Given the description of an element on the screen output the (x, y) to click on. 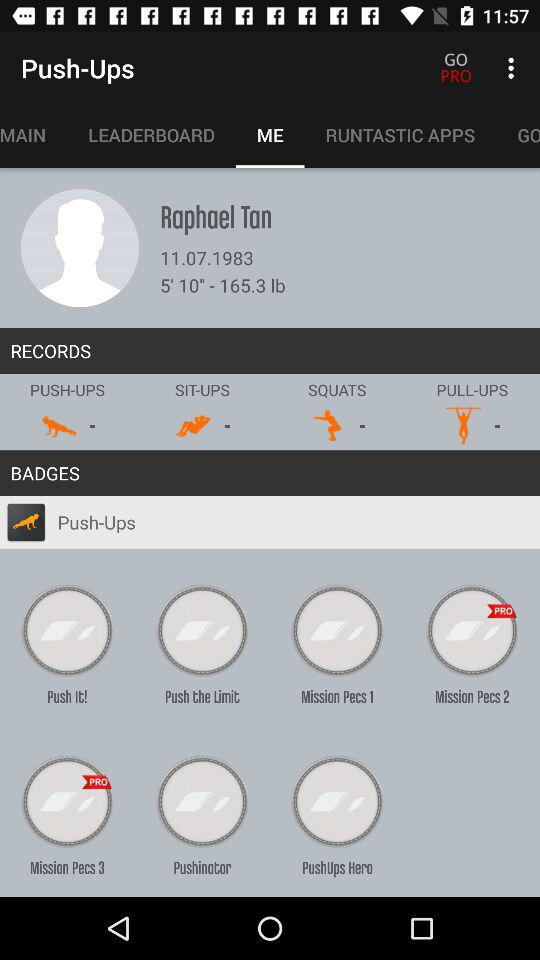
avatar (80, 248)
